Given the description of an element on the screen output the (x, y) to click on. 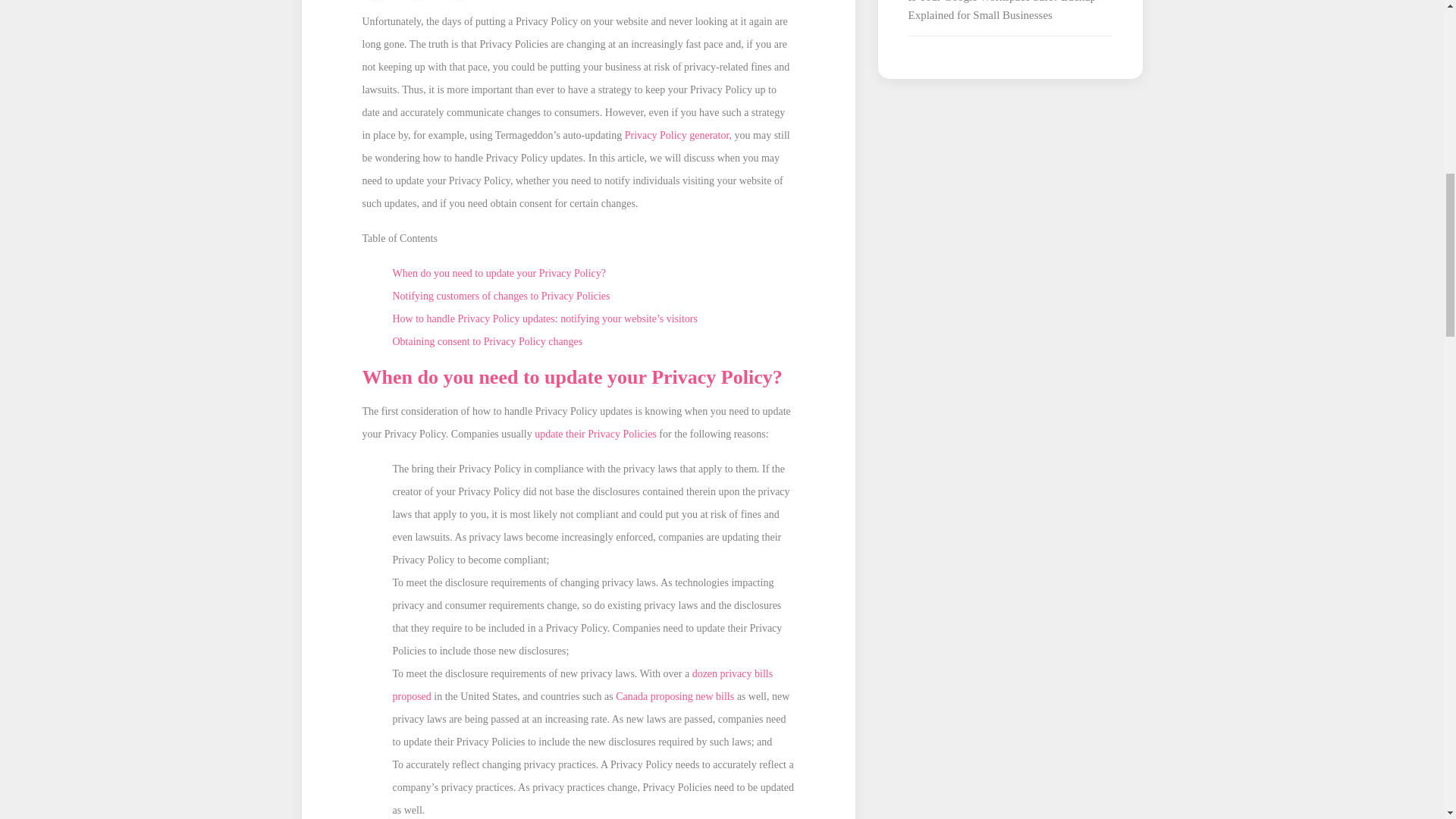
When do you need to update your Privacy Policy? (499, 273)
Obtaining consent to Privacy Policy changes (488, 341)
Privacy Policy generator (676, 134)
Notifying customers of changes to Privacy Policies (501, 296)
